Given the description of an element on the screen output the (x, y) to click on. 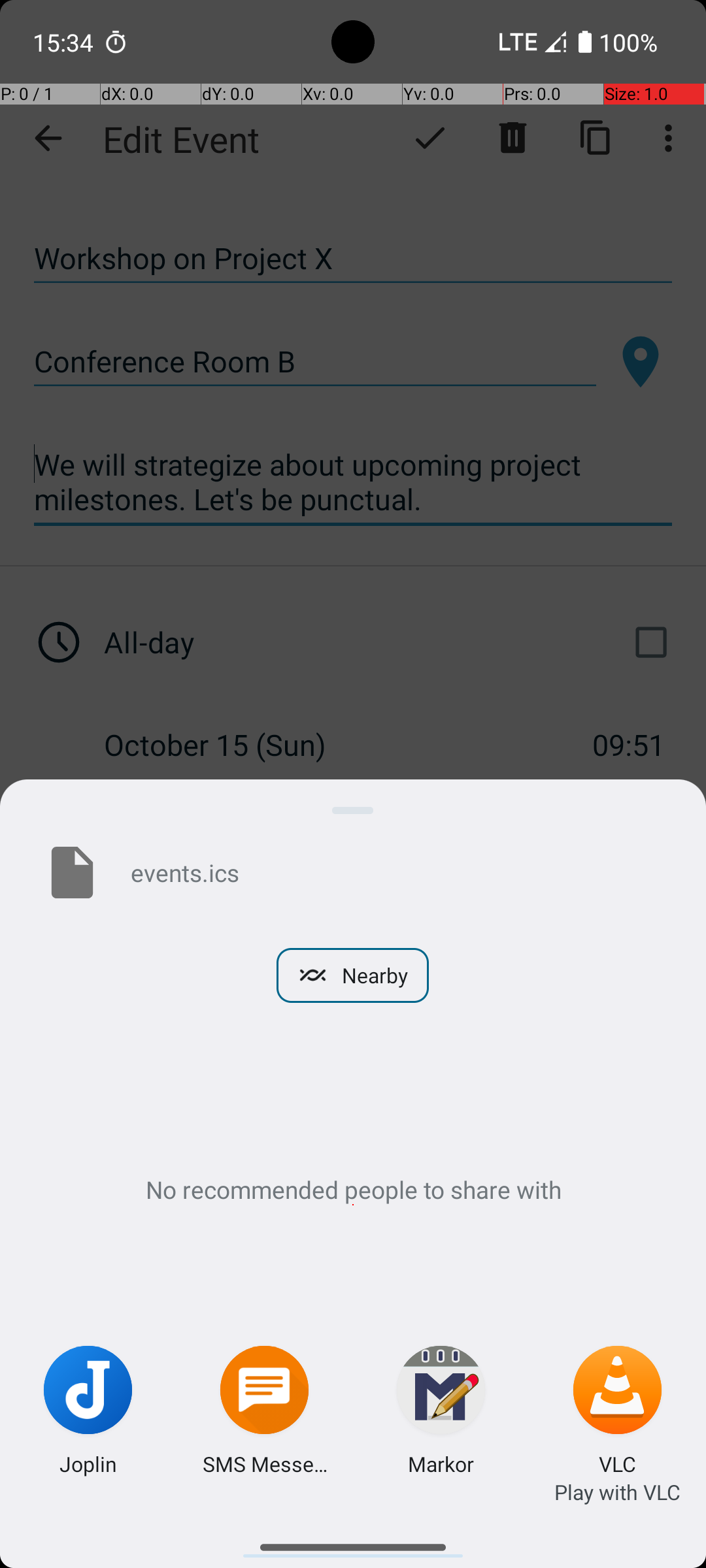
events.ics Element type: android.widget.TextView (397, 872)
Play with VLC Element type: android.widget.TextView (617, 1491)
